Given the description of an element on the screen output the (x, y) to click on. 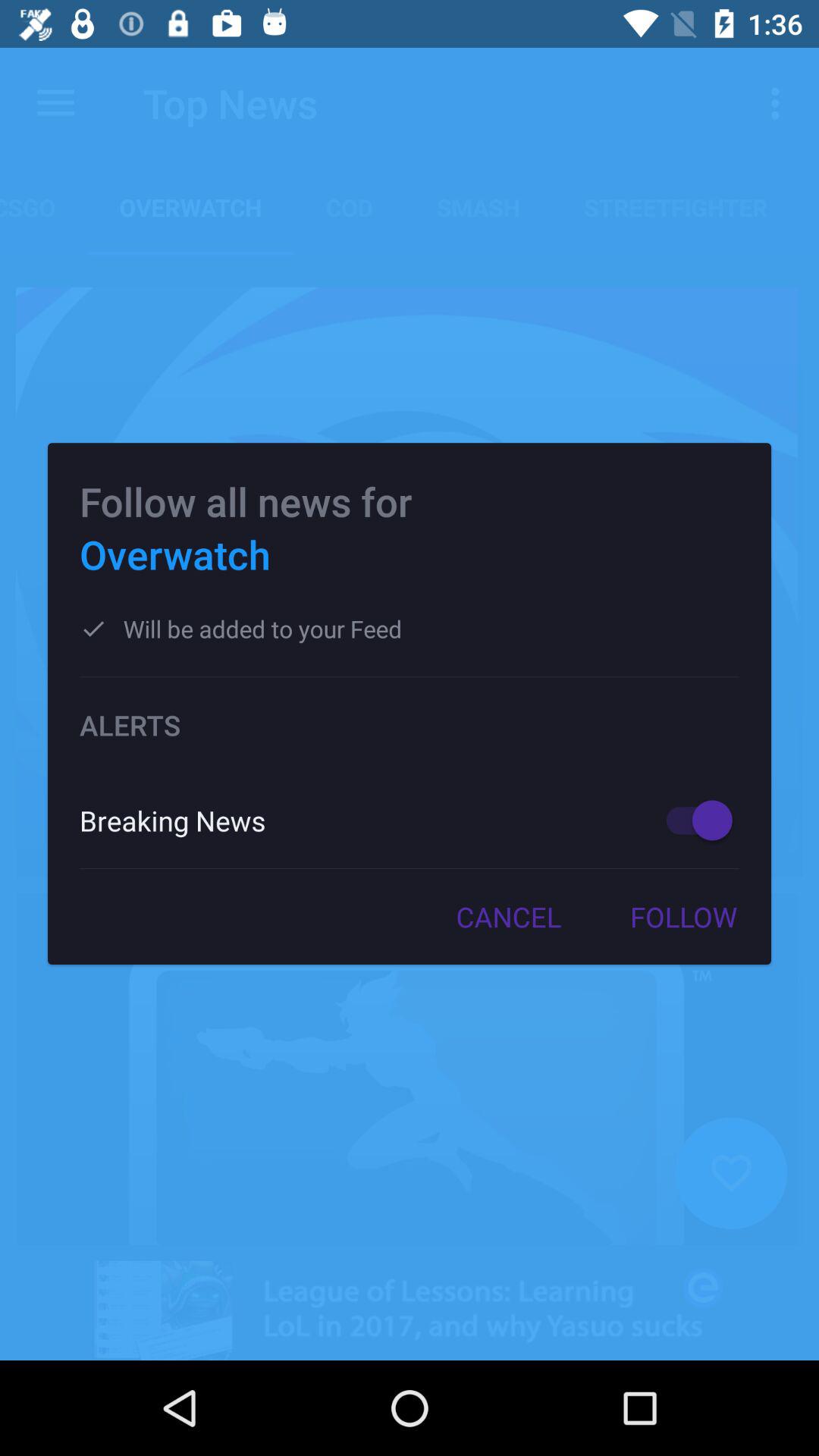
scroll until the cancel (508, 916)
